Given the description of an element on the screen output the (x, y) to click on. 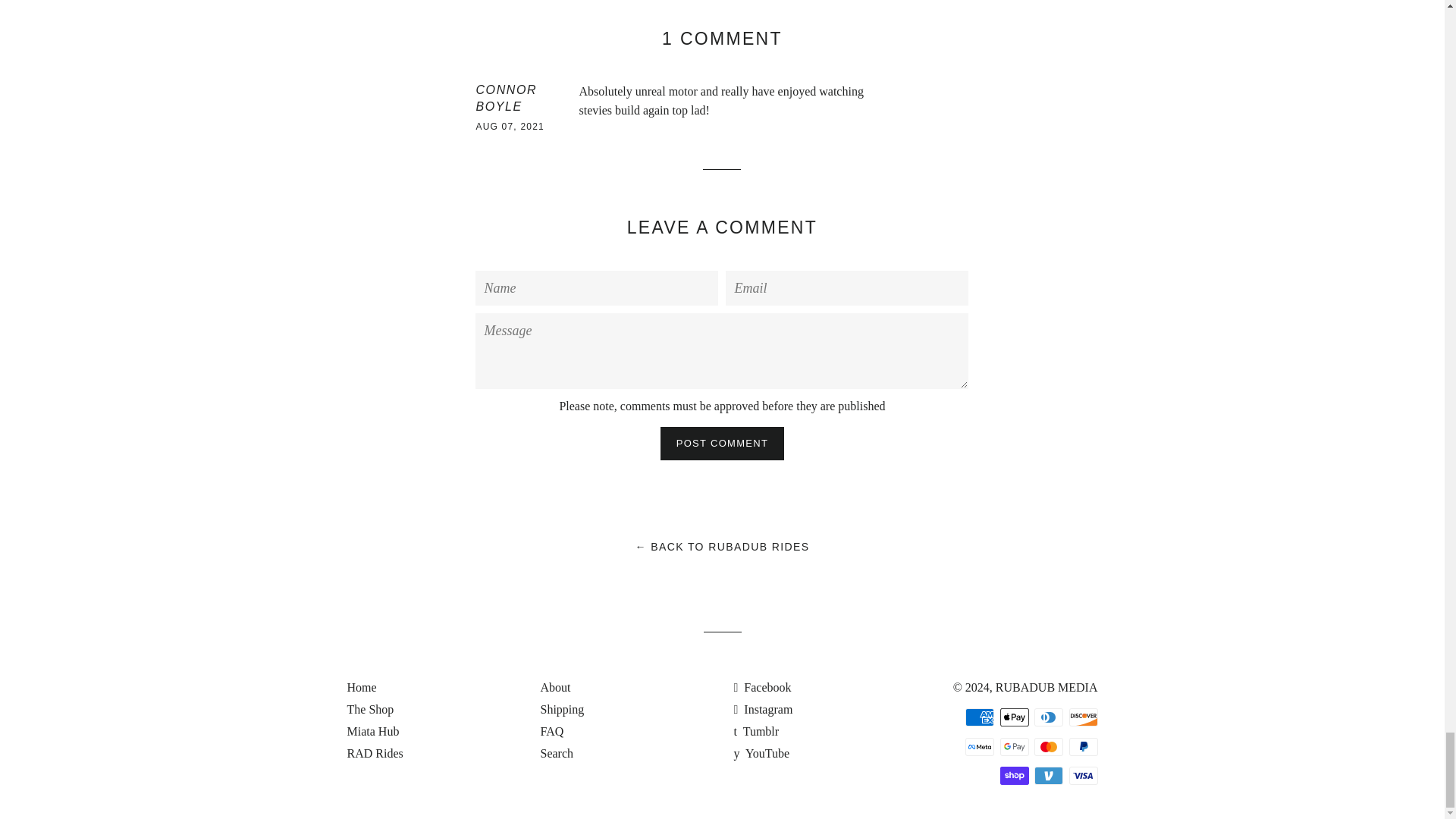
Meta Pay (979, 746)
Shop Pay (1012, 775)
Venmo (1047, 775)
Google Pay (1012, 746)
RUBADUB MEDIA on Instagram (763, 708)
RUBADUB MEDIA on YouTube (761, 753)
Post comment (722, 443)
RUBADUB MEDIA on Tumblr (755, 730)
PayPal (1082, 746)
RUBADUB MEDIA on Facebook (762, 686)
Discover (1082, 717)
Mastercard (1047, 746)
Visa (1082, 775)
Diners Club (1047, 717)
Apple Pay (1012, 717)
